Given the description of an element on the screen output the (x, y) to click on. 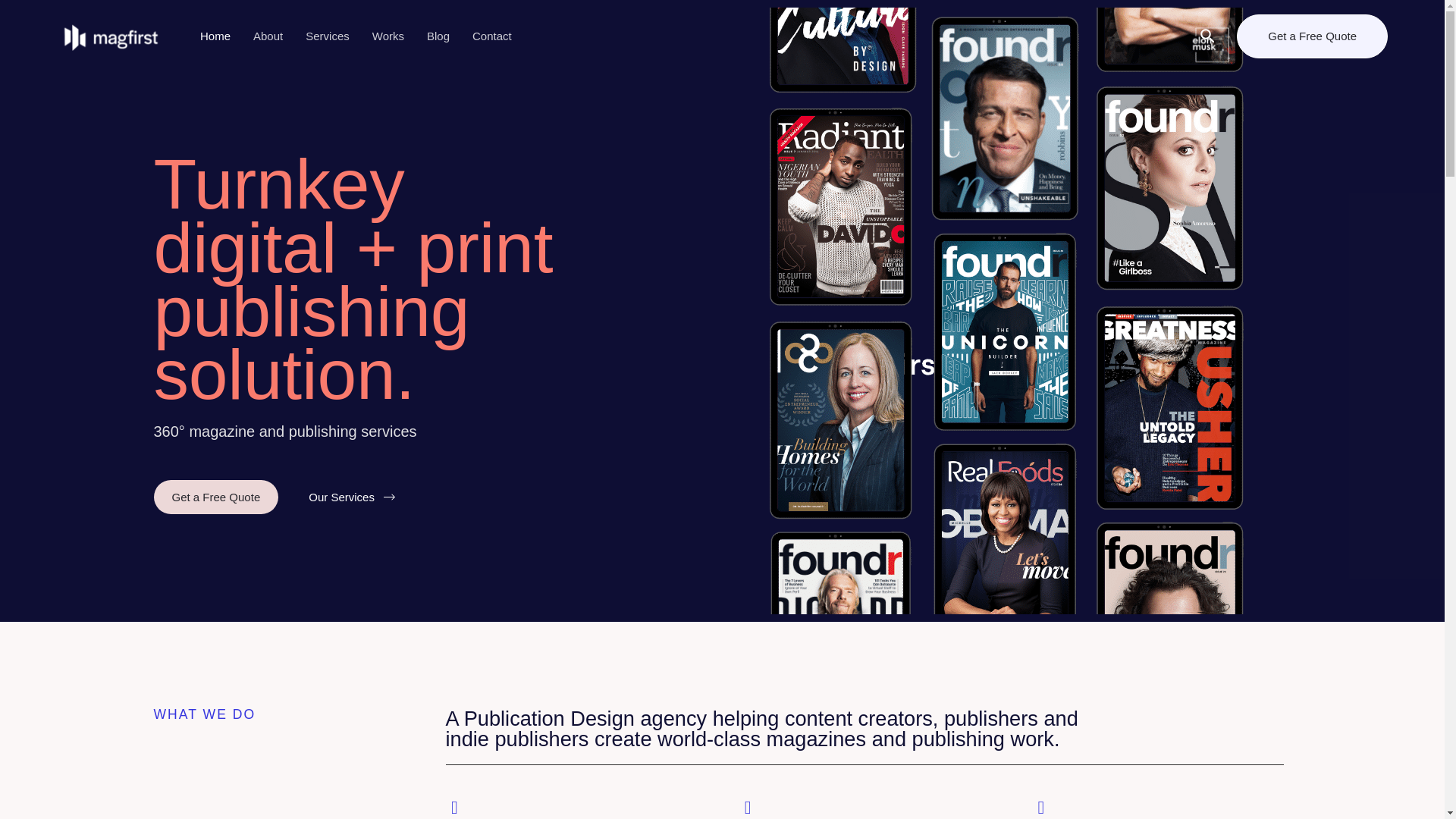
Services (327, 36)
Our Services (351, 497)
Get a Free Quote (215, 496)
Get a Free Quote (1311, 36)
